Given the description of an element on the screen output the (x, y) to click on. 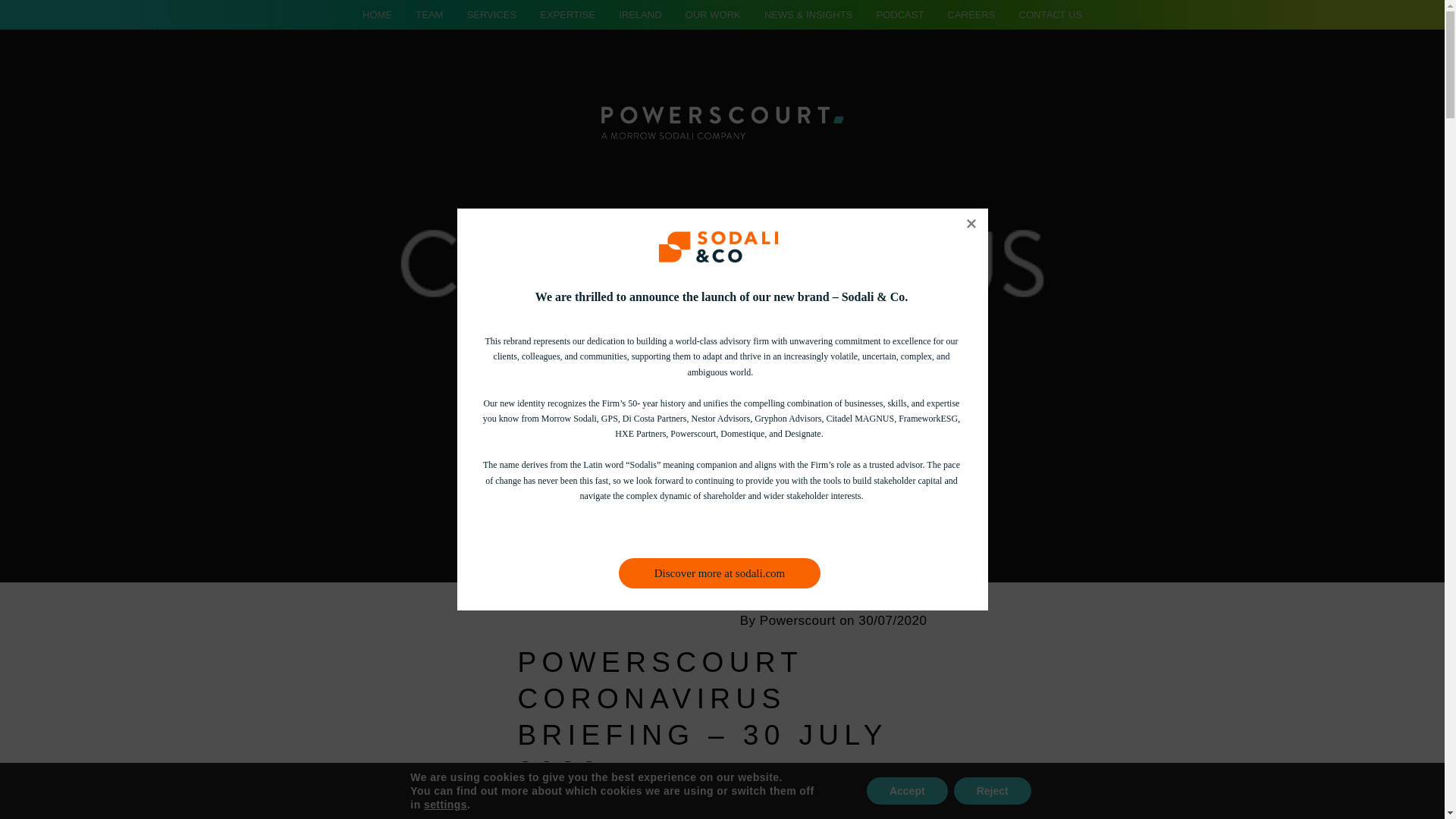
Accept (906, 790)
settings (445, 804)
TEAM (428, 14)
HOME (376, 14)
Reject (991, 790)
EXPERTISE (567, 14)
Discover more at sodali.com (719, 572)
SERVICES (491, 14)
